Given the description of an element on the screen output the (x, y) to click on. 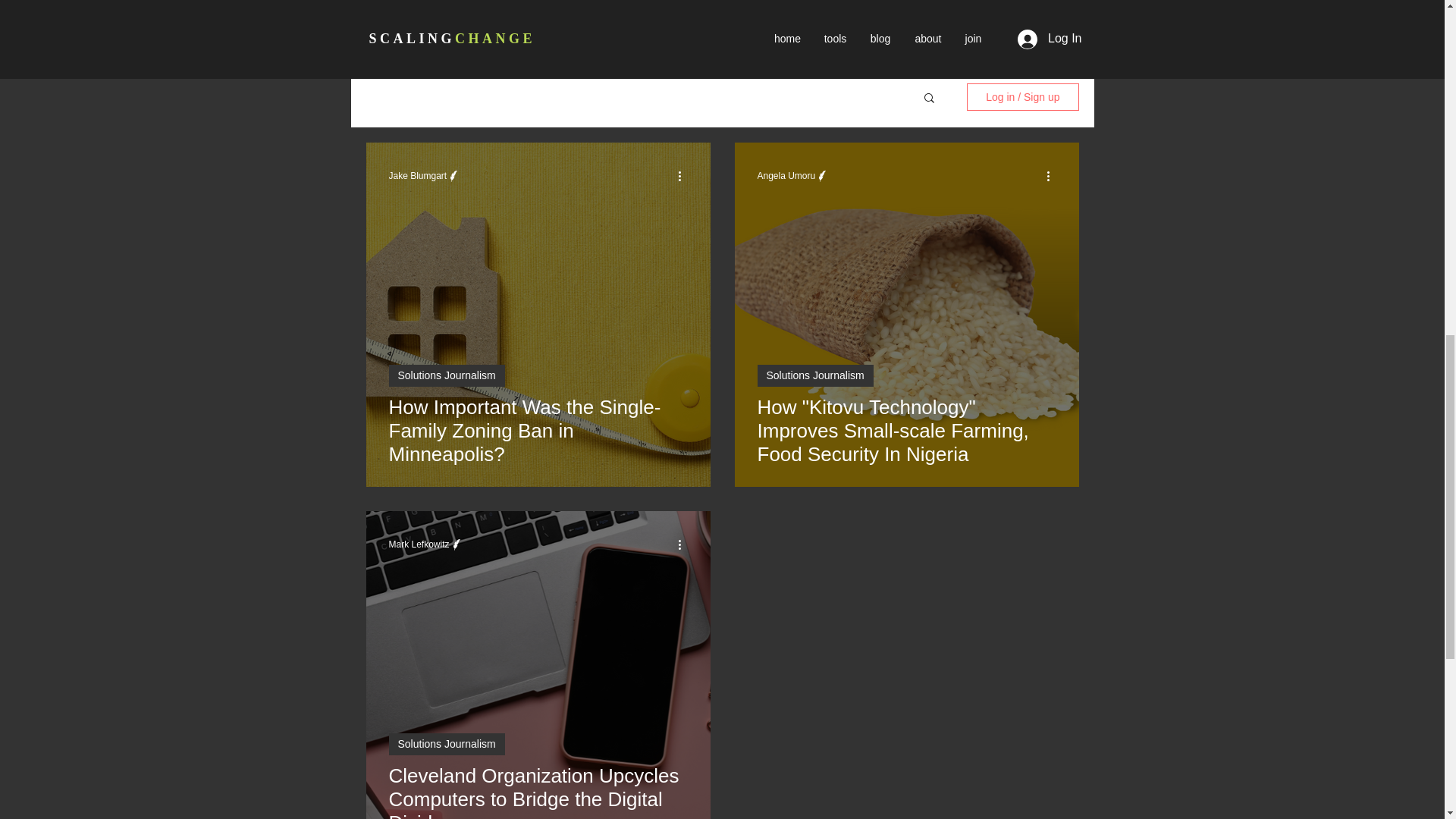
Jake Blumgart (417, 175)
Solutions Journalism (445, 744)
Jake Blumgart (424, 175)
Angela Umoru (793, 175)
Mark Lefkowitz (418, 543)
Mark Lefkowitz (425, 544)
Angela Umoru (786, 175)
Solutions Journalism (814, 375)
Solutions Journalism (445, 375)
